Given the description of an element on the screen output the (x, y) to click on. 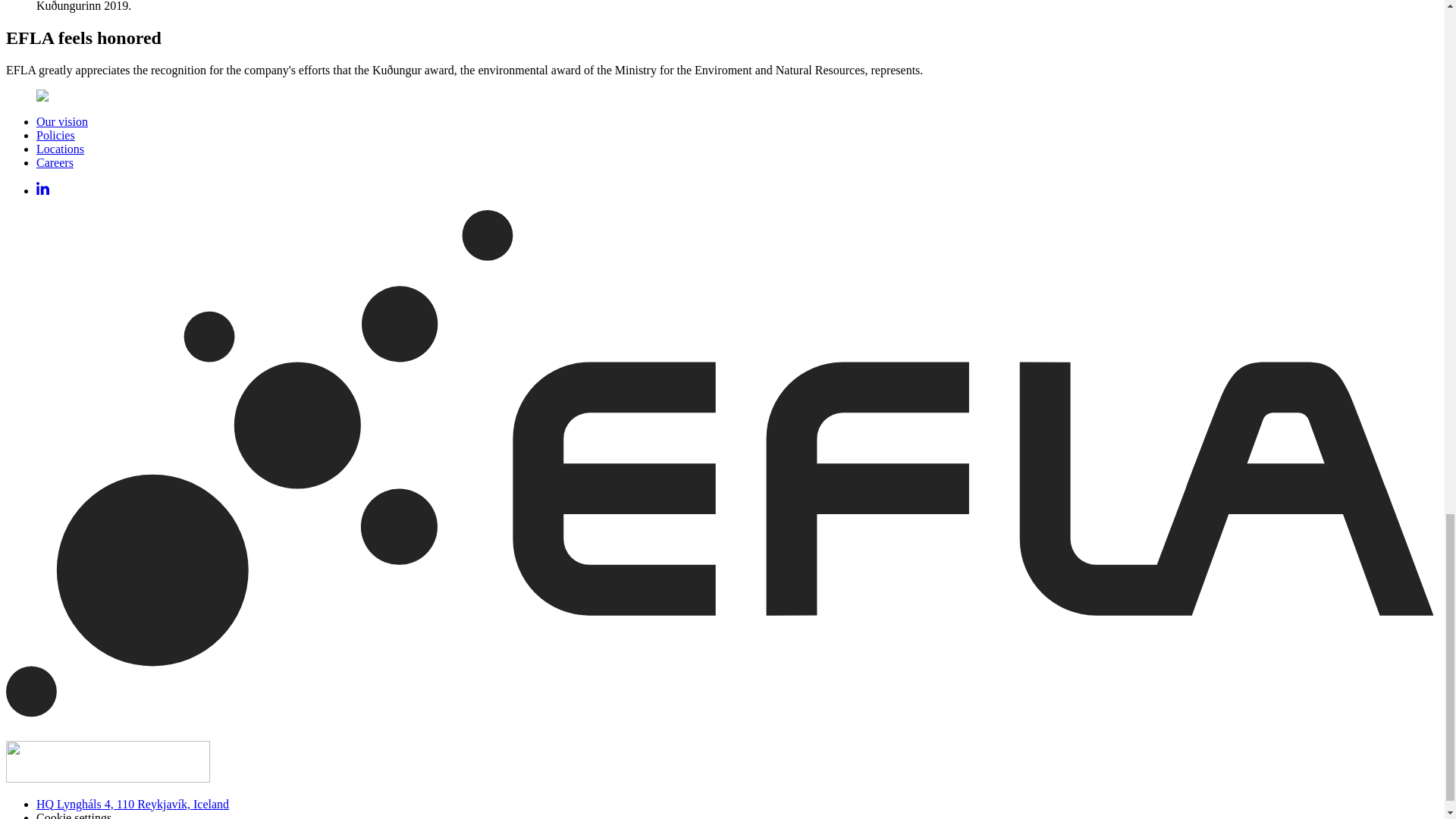
Careers (55, 162)
Our vision (61, 121)
Locations (60, 148)
Policies (55, 134)
linkedin (42, 190)
